Given the description of an element on the screen output the (x, y) to click on. 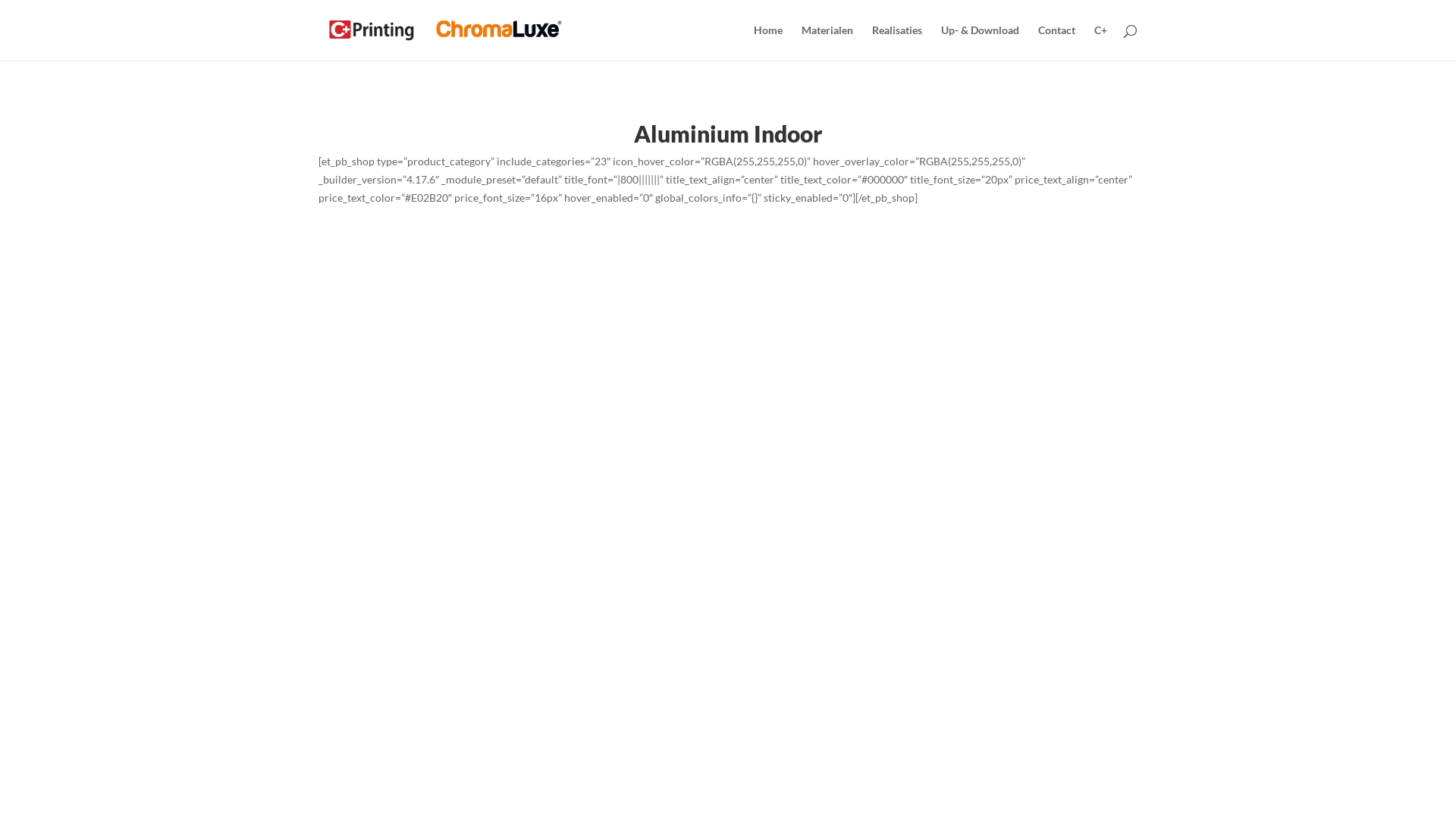
C+ Element type: text (1100, 42)
Up- & Download Element type: text (980, 42)
Home Element type: text (767, 42)
Contact Element type: text (1056, 42)
Realisaties Element type: text (897, 42)
Materialen Element type: text (827, 42)
